Given the description of an element on the screen output the (x, y) to click on. 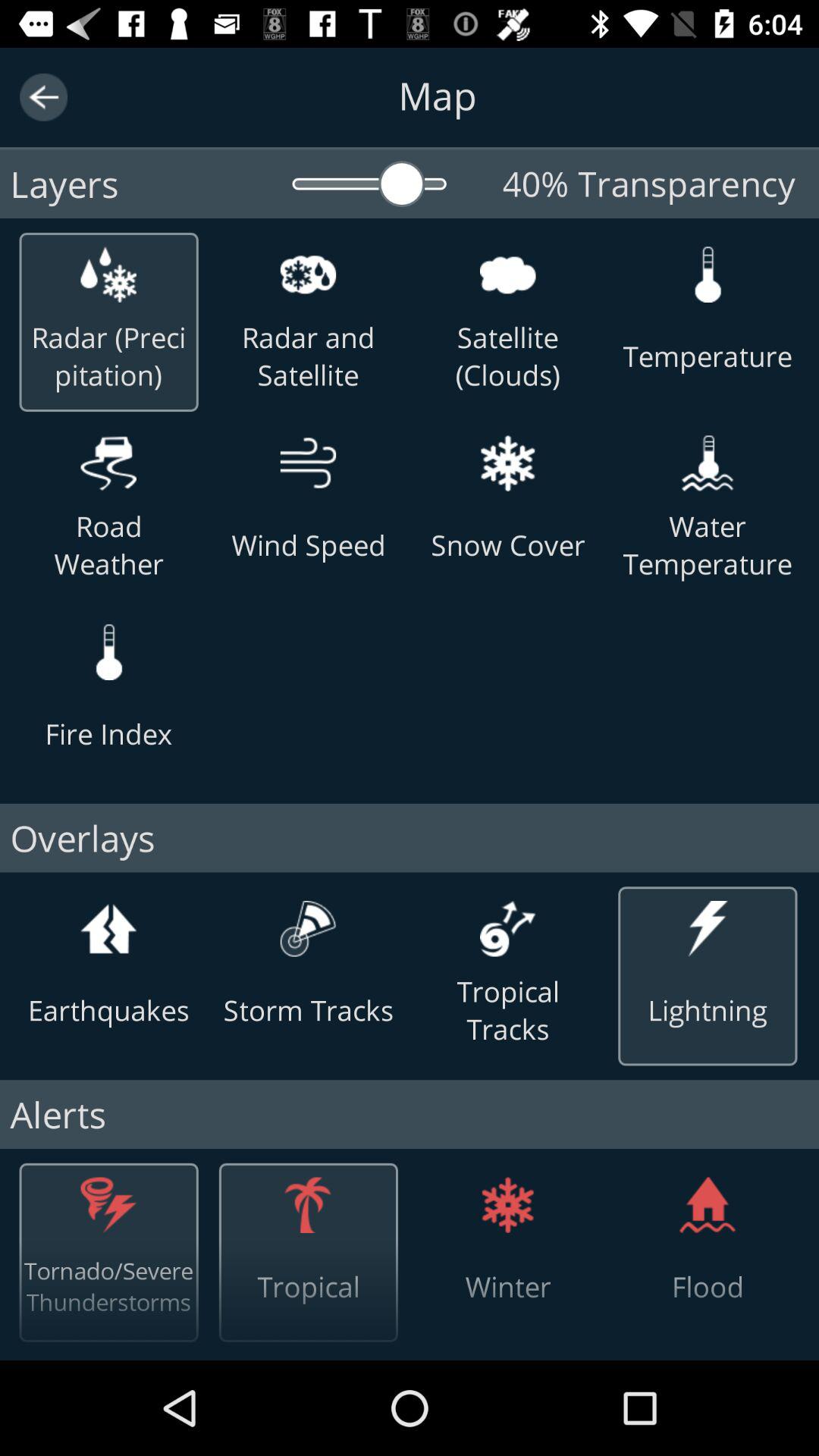
launch item next to map (43, 97)
